Given the description of an element on the screen output the (x, y) to click on. 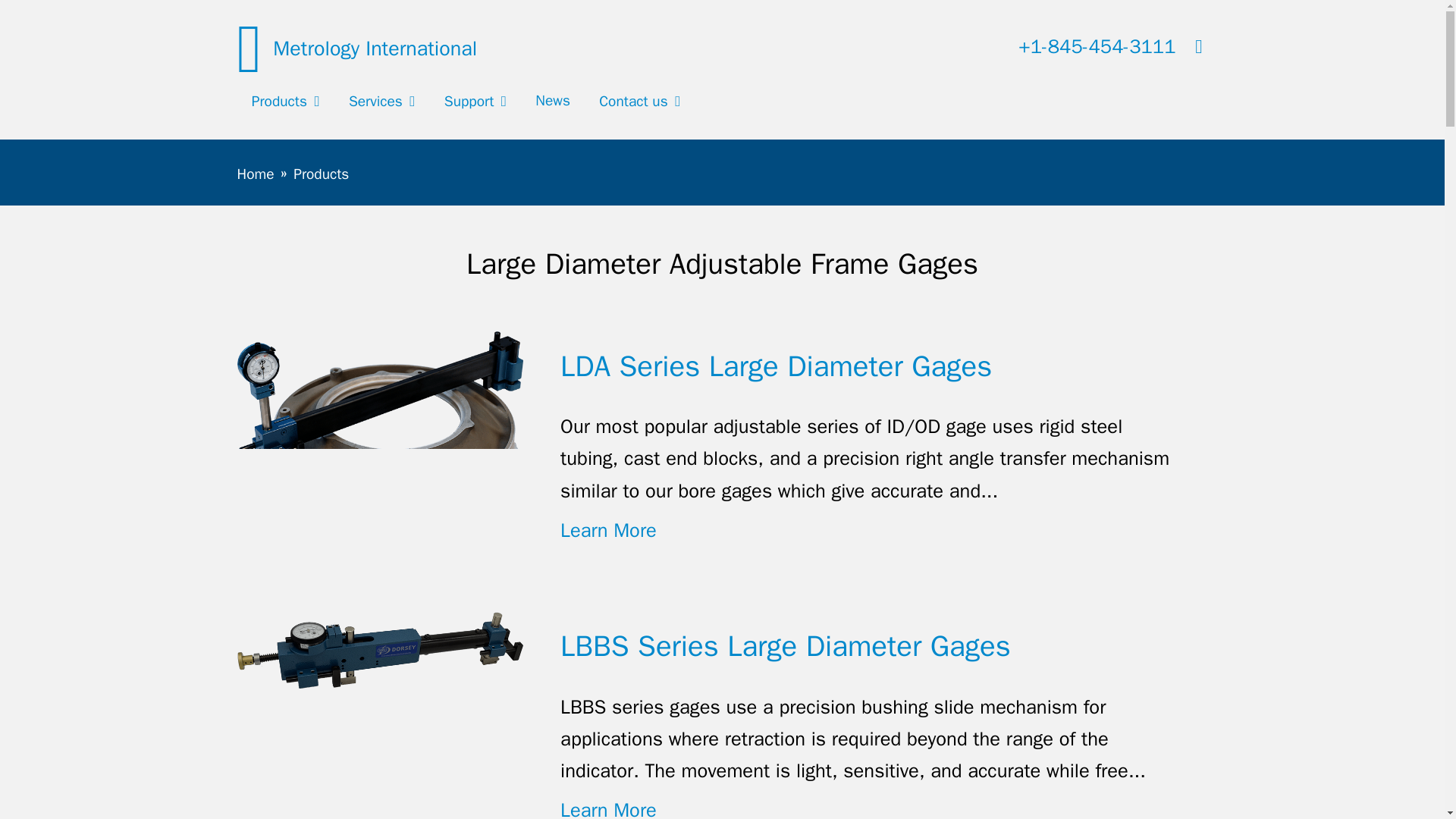
LDA Large Diameter Gage (378, 418)
Home (356, 46)
LBBS Carbon Fiber Large Diameter Gage (378, 649)
Products (284, 101)
